Given the description of an element on the screen output the (x, y) to click on. 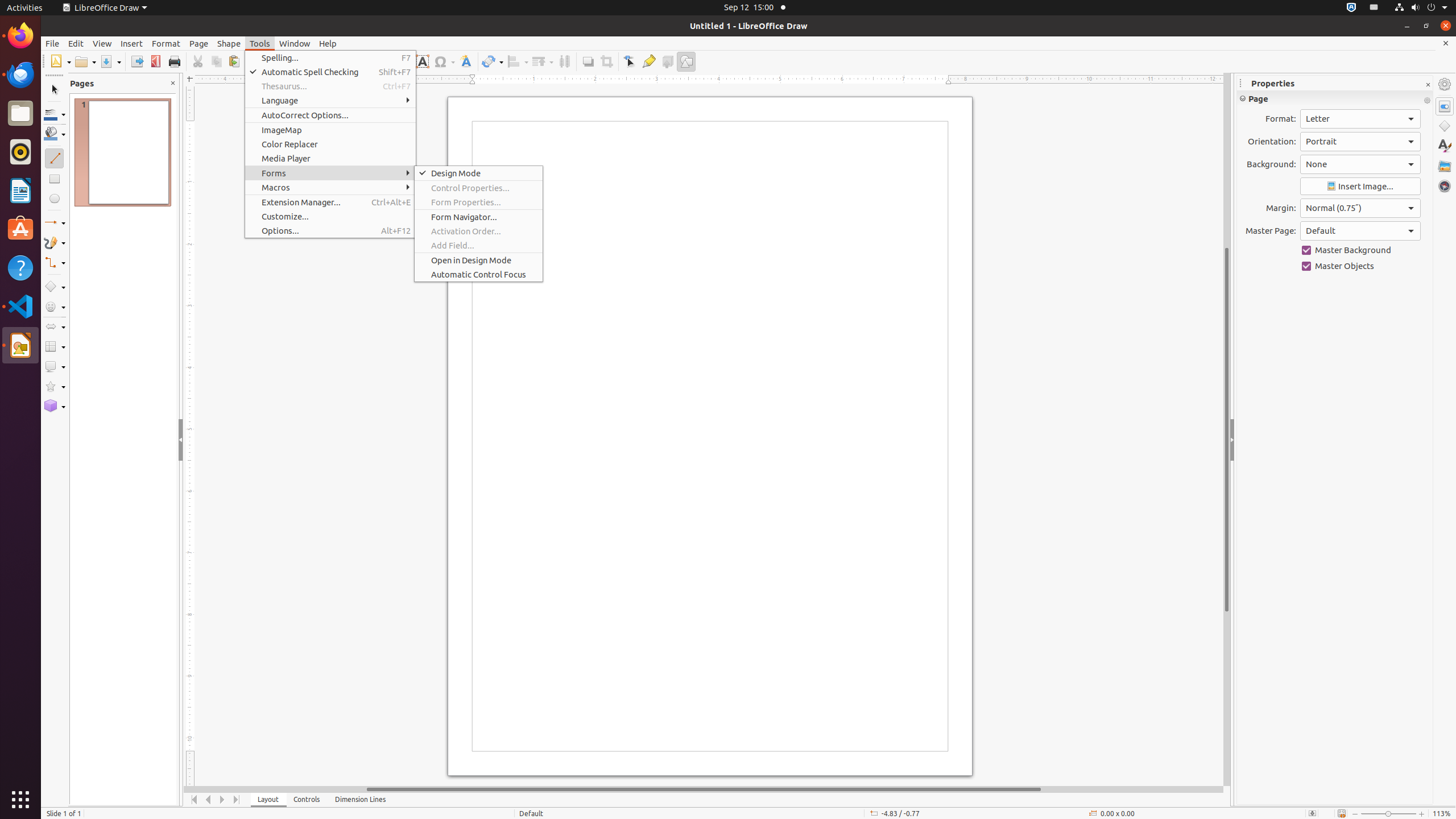
Draw Functions Element type: toggle-button (685, 61)
Format: Element type: combo-box (1360, 118)
Glue Points Element type: push-button (648, 61)
Customize... Element type: menu-item (330, 216)
Copy Element type: push-button (216, 61)
